Given the description of an element on the screen output the (x, y) to click on. 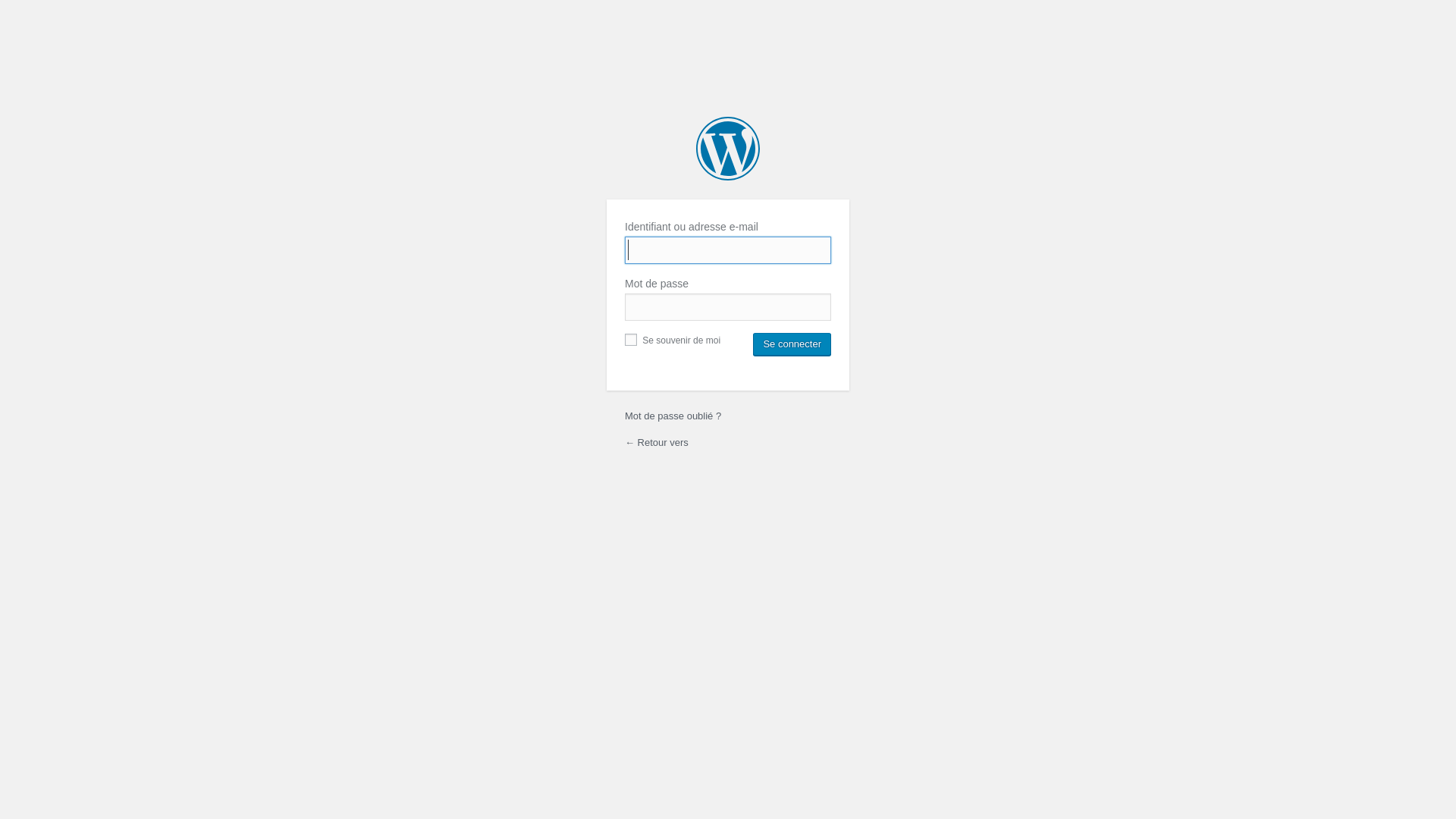
Se connecter Element type: text (792, 343)
